Given the description of an element on the screen output the (x, y) to click on. 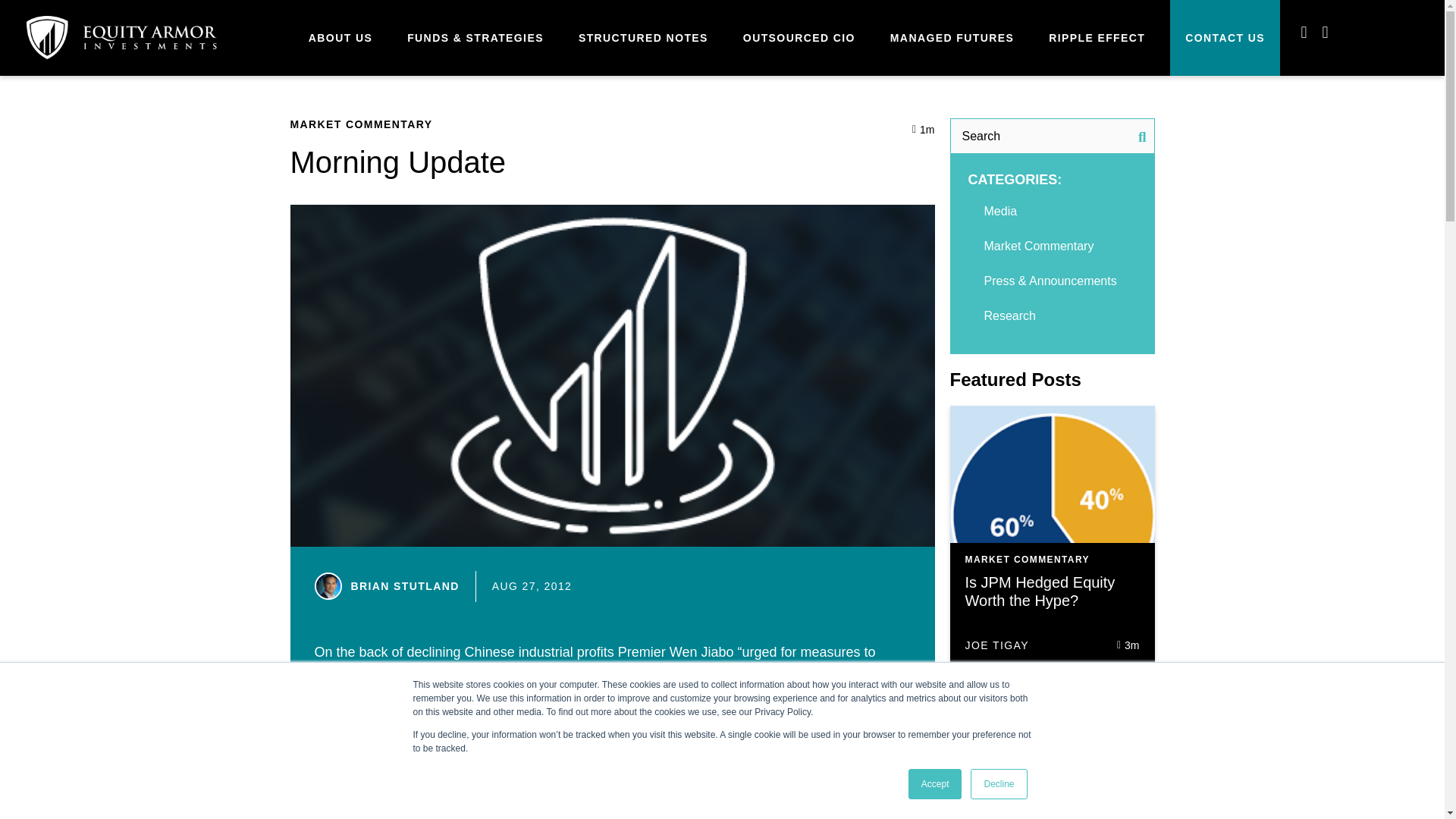
OUTSOURCED CIO (799, 38)
Accept (935, 784)
Outsourced CIO (799, 38)
Ripple Effect (1096, 38)
Structured Notes (642, 38)
MARKET COMMENTARY (360, 123)
Is JPM Hedged Equity Worth the Hype? (1039, 591)
MARKET COMMENTARY (1026, 559)
Contact Us (1224, 38)
Research (1009, 315)
